Given the description of an element on the screen output the (x, y) to click on. 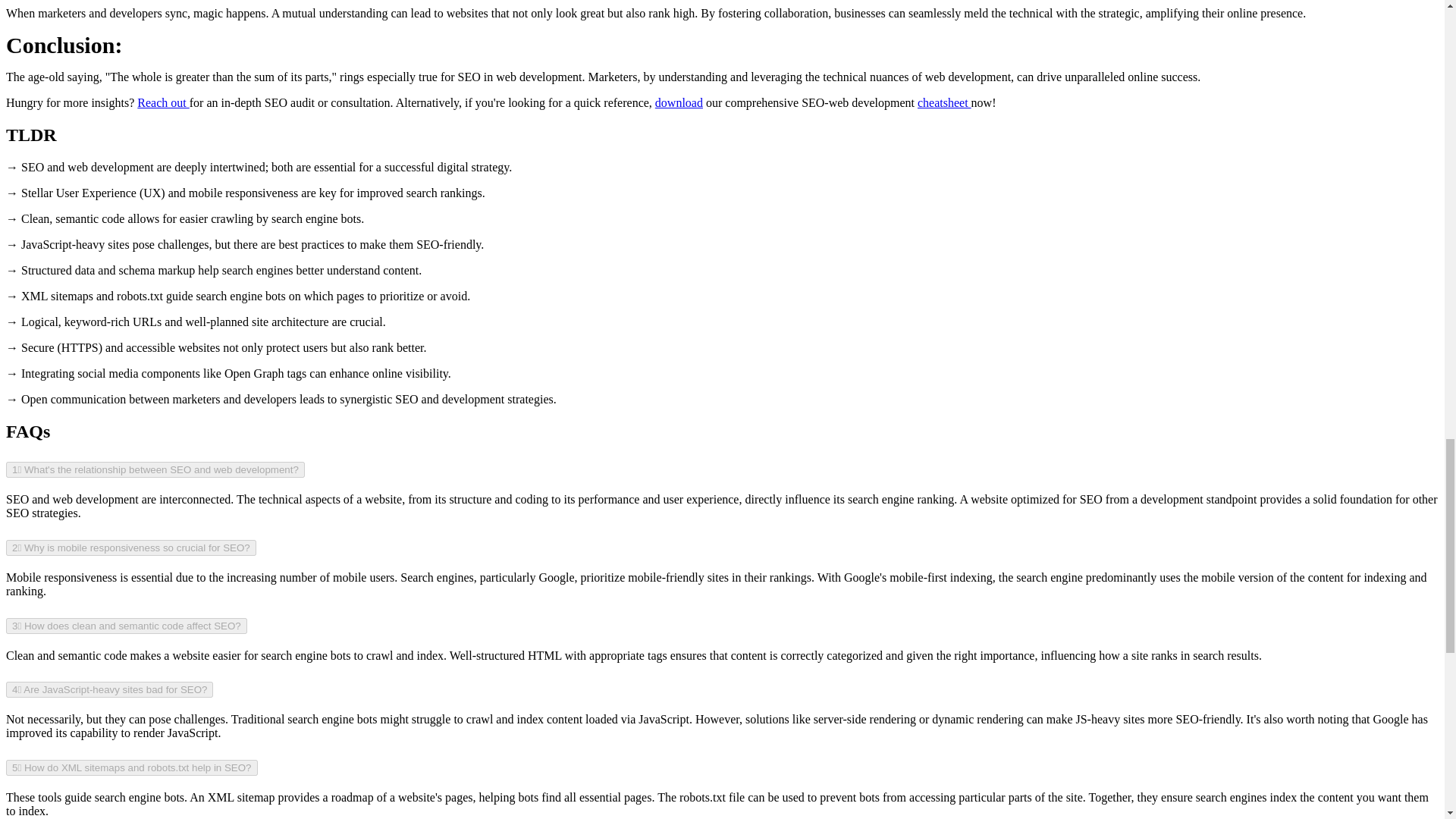
cheatsheet  (944, 102)
Reach out  (162, 102)
download (679, 102)
